Given the description of an element on the screen output the (x, y) to click on. 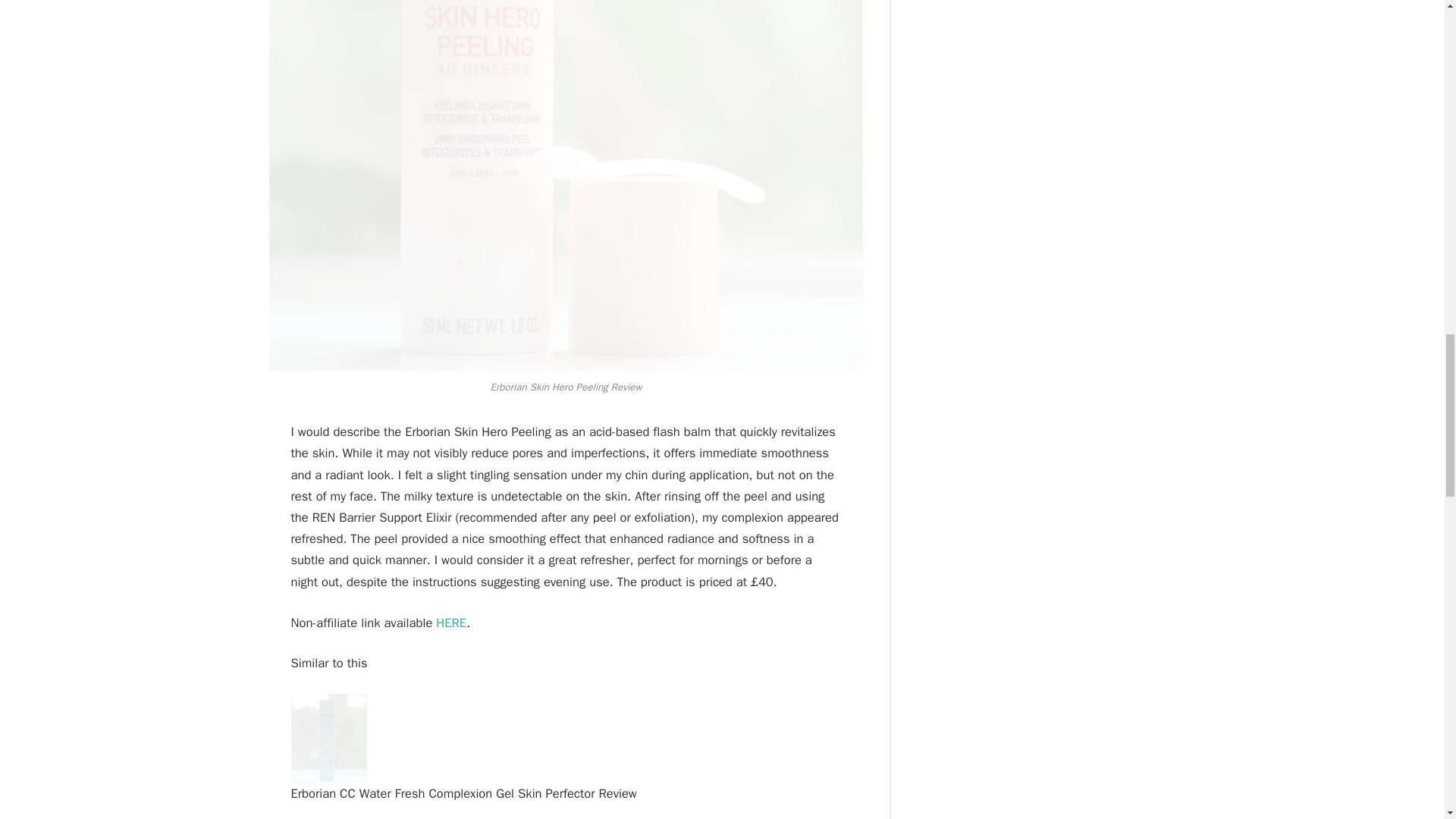
HERE (450, 621)
